Given the description of an element on the screen output the (x, y) to click on. 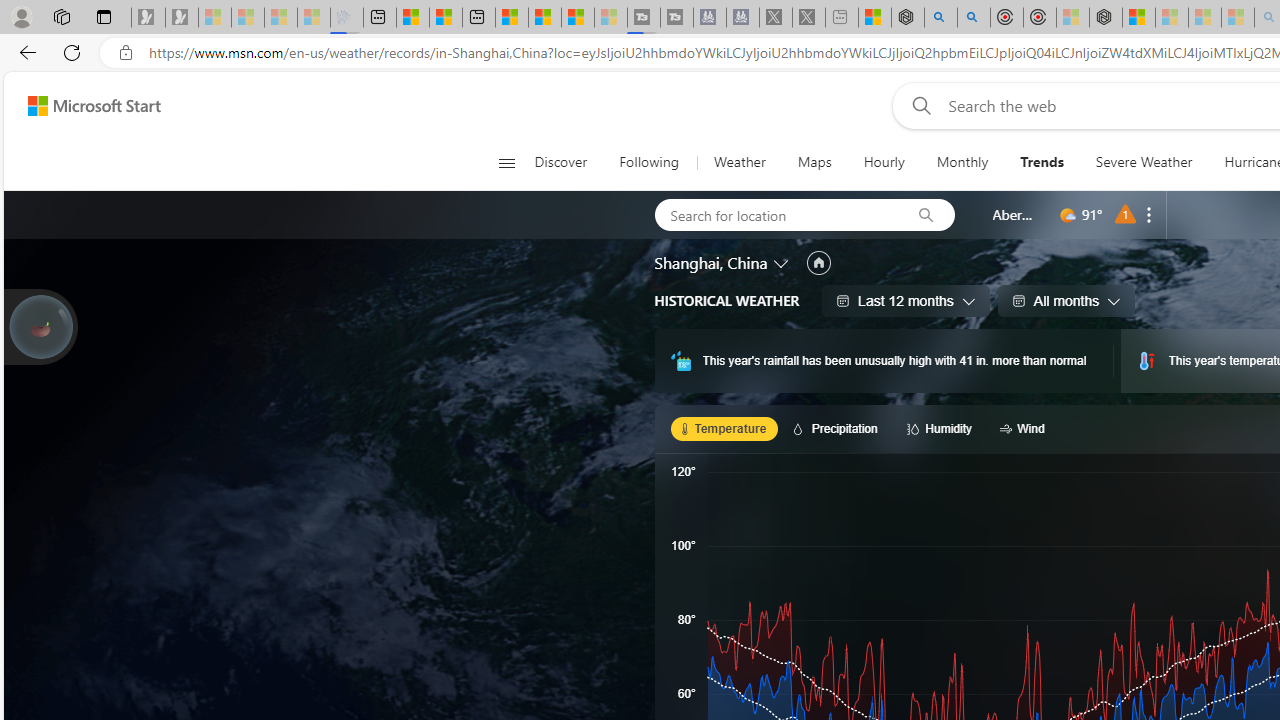
Personal Profile (21, 16)
Weather (739, 162)
Change location (782, 262)
Discover (568, 162)
Severe Weather (1144, 162)
Trends (1041, 162)
Discover (560, 162)
Temperature (724, 428)
Workspaces (61, 16)
Refresh (72, 52)
